Given the description of an element on the screen output the (x, y) to click on. 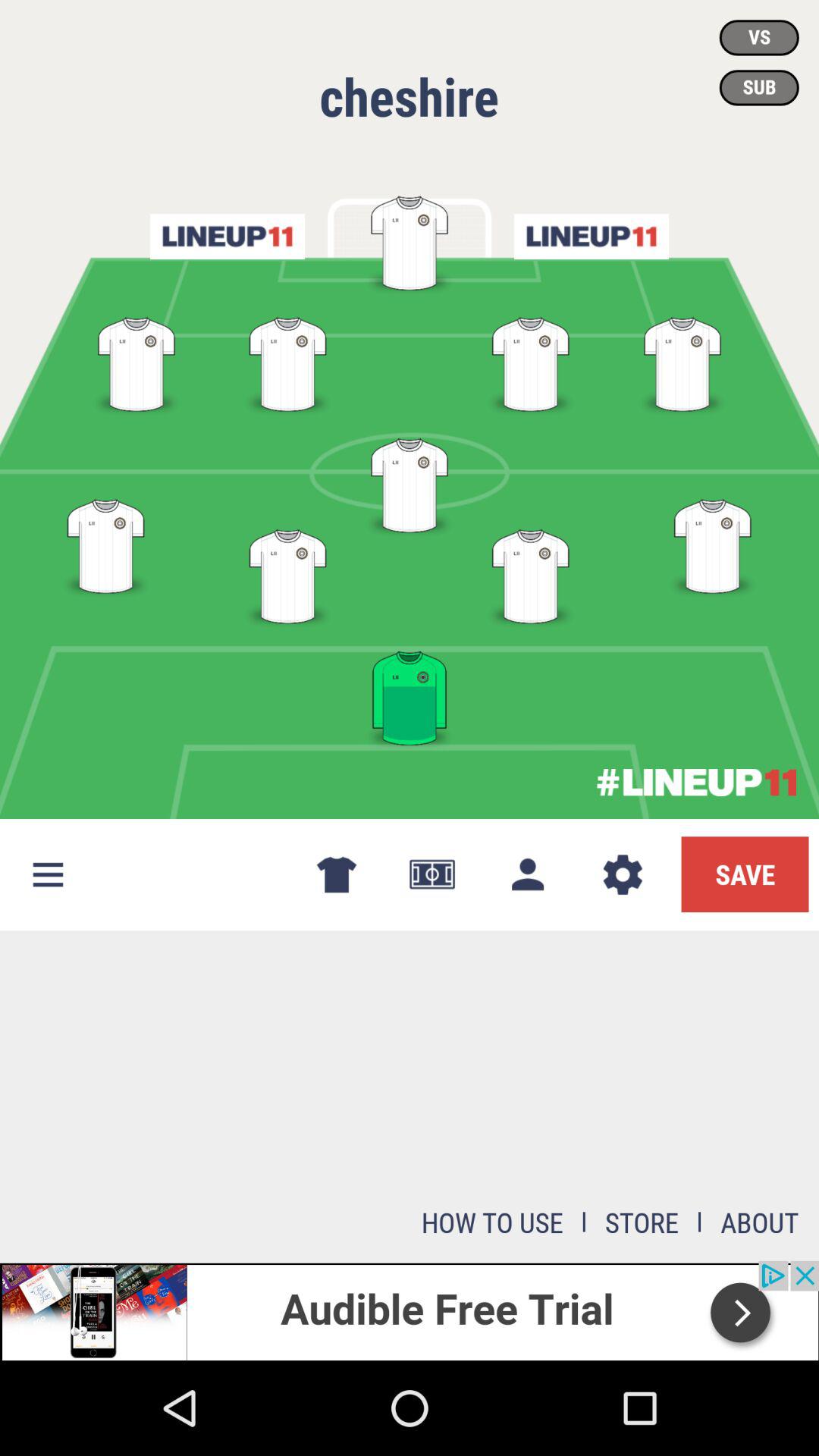
select the image which is in green color at the bottom of the page (409, 691)
click on about at bottom right corner of the page (760, 1221)
